Given the description of an element on the screen output the (x, y) to click on. 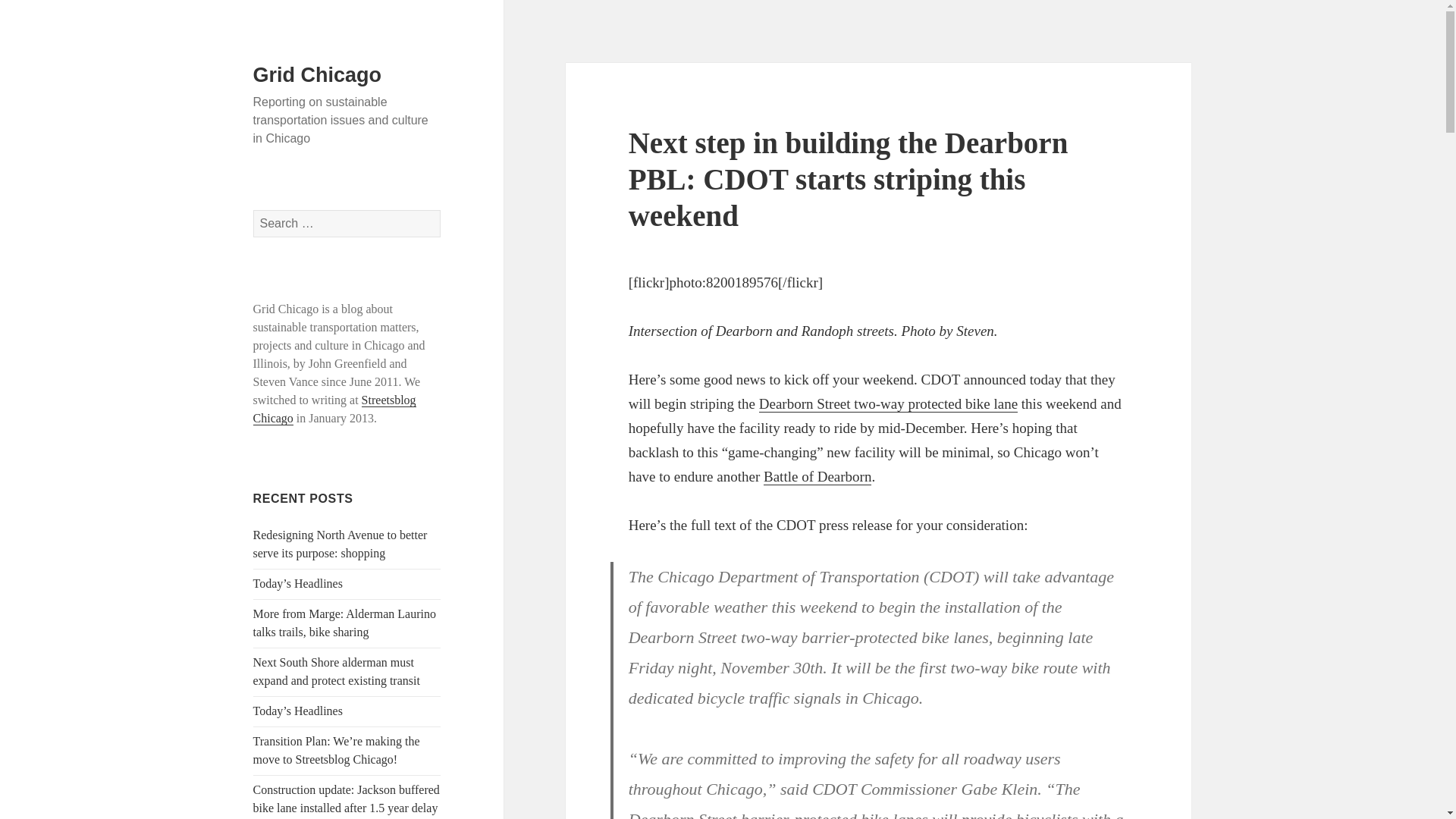
More from Marge: Alderman Laurino talks trails, bike sharing (344, 622)
Battle of Dearborn (816, 476)
Grid Chicago (317, 74)
Dearborn Street two-way protected bike lane (887, 403)
Streetsblog Chicago (334, 409)
